Given the description of an element on the screen output the (x, y) to click on. 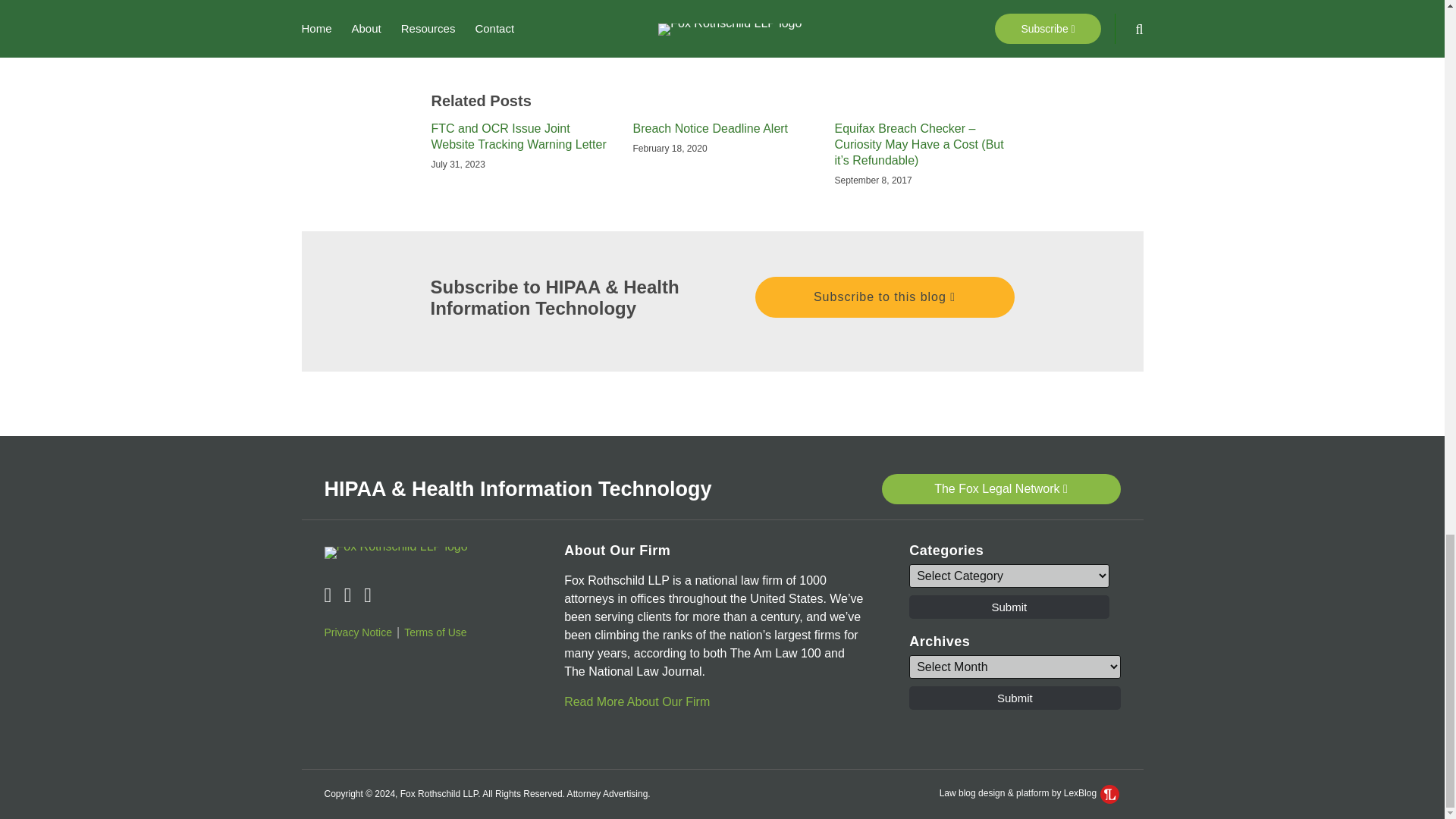
The Fox Legal Network (999, 489)
FTC and OCR Issue Joint Website Tracking Warning Letter (520, 137)
Submit (1008, 607)
Breach Notice Deadline Alert (709, 129)
Submit (1013, 698)
Subscribe to this blog (884, 296)
LexBlog Logo (1109, 793)
